Given the description of an element on the screen output the (x, y) to click on. 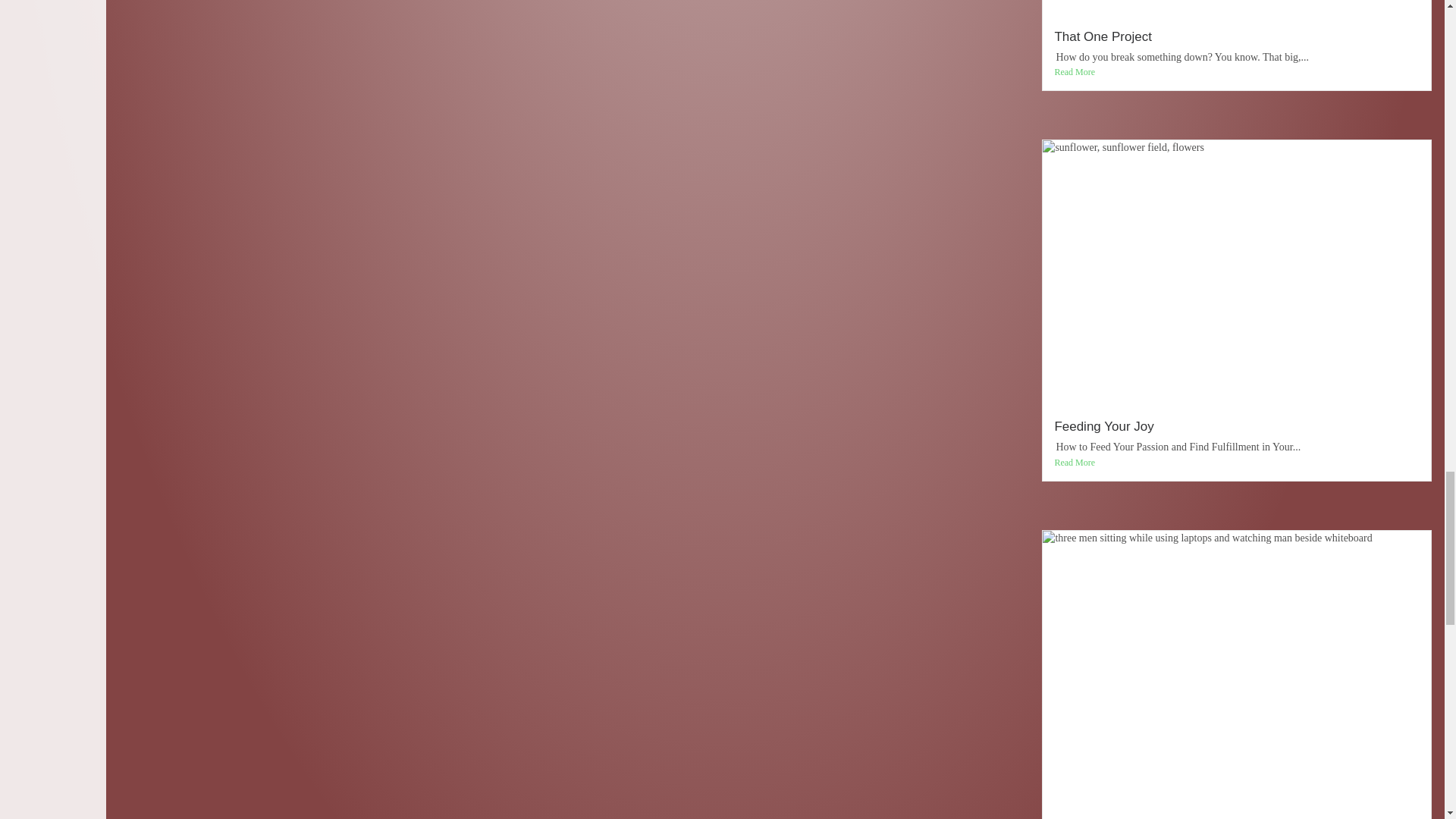
Feeding Your Joy (1103, 426)
That One Project (1102, 36)
Feeding Your Joy (1103, 426)
Read More (1236, 462)
Read More (1236, 72)
That One Project (1102, 36)
